Given the description of an element on the screen output the (x, y) to click on. 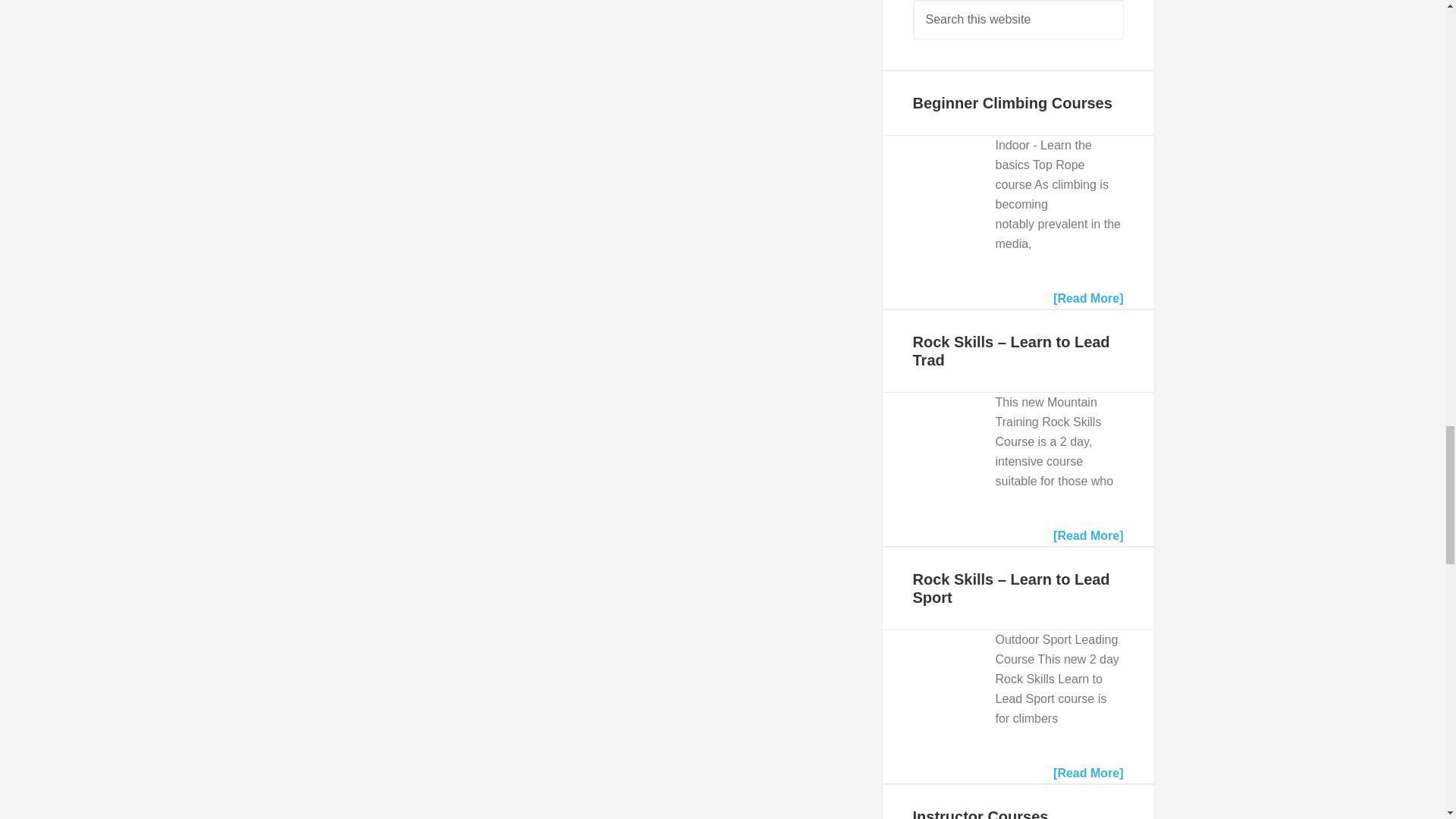
Instructor Courses (980, 813)
Beginner Climbing Courses (929, 182)
Beginner Climbing Courses (1012, 103)
